Given the description of an element on the screen output the (x, y) to click on. 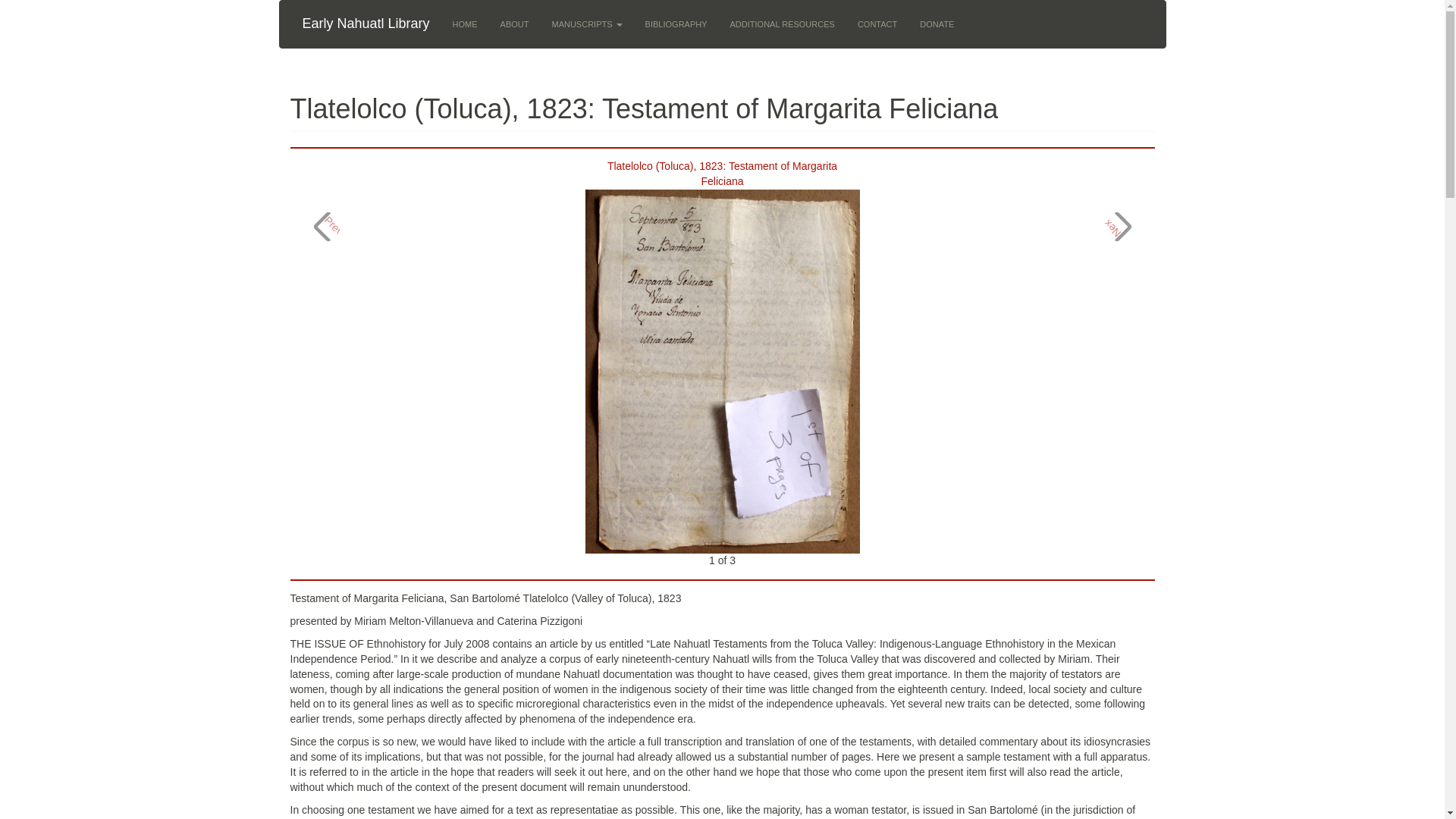
Early Nahuatl Library (366, 22)
CONTACT (876, 23)
HOME (465, 23)
Next (1110, 221)
DONATE (936, 23)
BIBLIOGRAPHY (676, 23)
ADDITIONAL RESOURCES (782, 23)
Home (366, 22)
ABOUT (514, 23)
MANUSCRIPTS (586, 23)
Previous (341, 219)
